Given the description of an element on the screen output the (x, y) to click on. 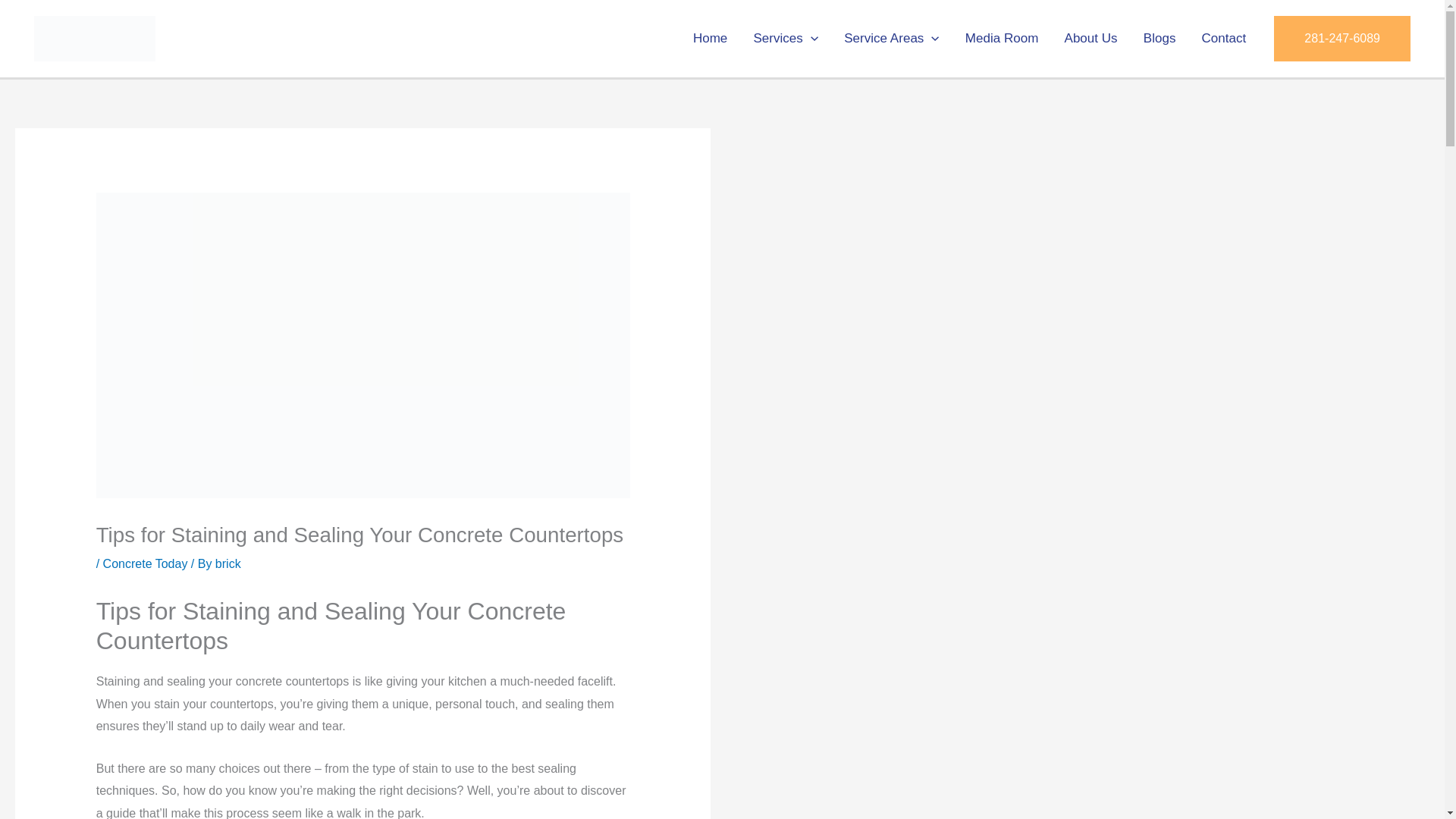
Services (785, 38)
Blogs (1160, 38)
Home (710, 38)
Media Room (1001, 38)
About Us (1090, 38)
Contact (1223, 38)
Service Areas (891, 38)
View all posts by brick (228, 563)
281-247-6089 (1342, 38)
